Given the description of an element on the screen output the (x, y) to click on. 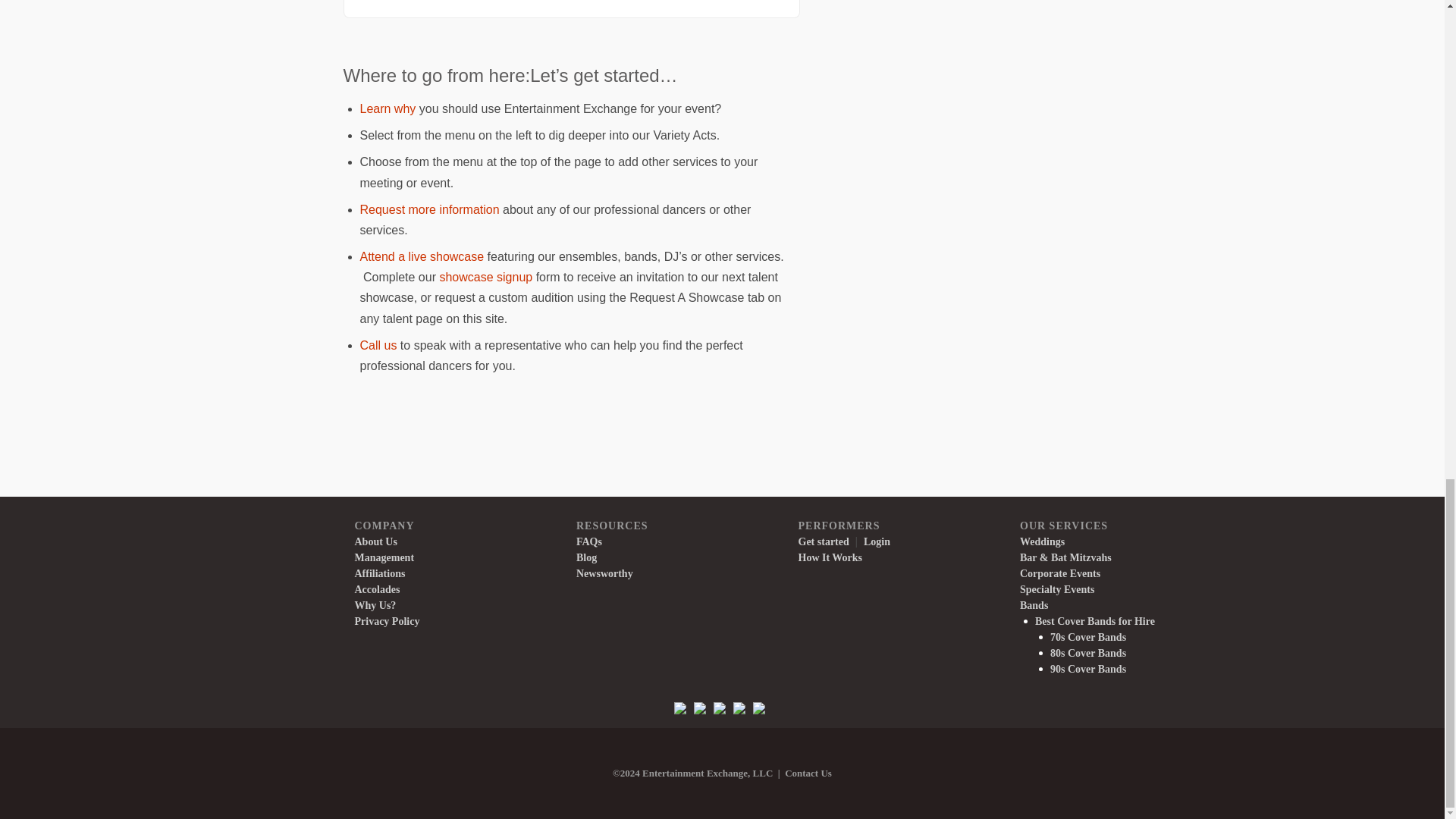
showcase signup (485, 277)
Request more information (429, 209)
Call us (377, 345)
Attend a live showcase (421, 256)
Learn why (386, 108)
Why Us? (386, 108)
